Given the description of an element on the screen output the (x, y) to click on. 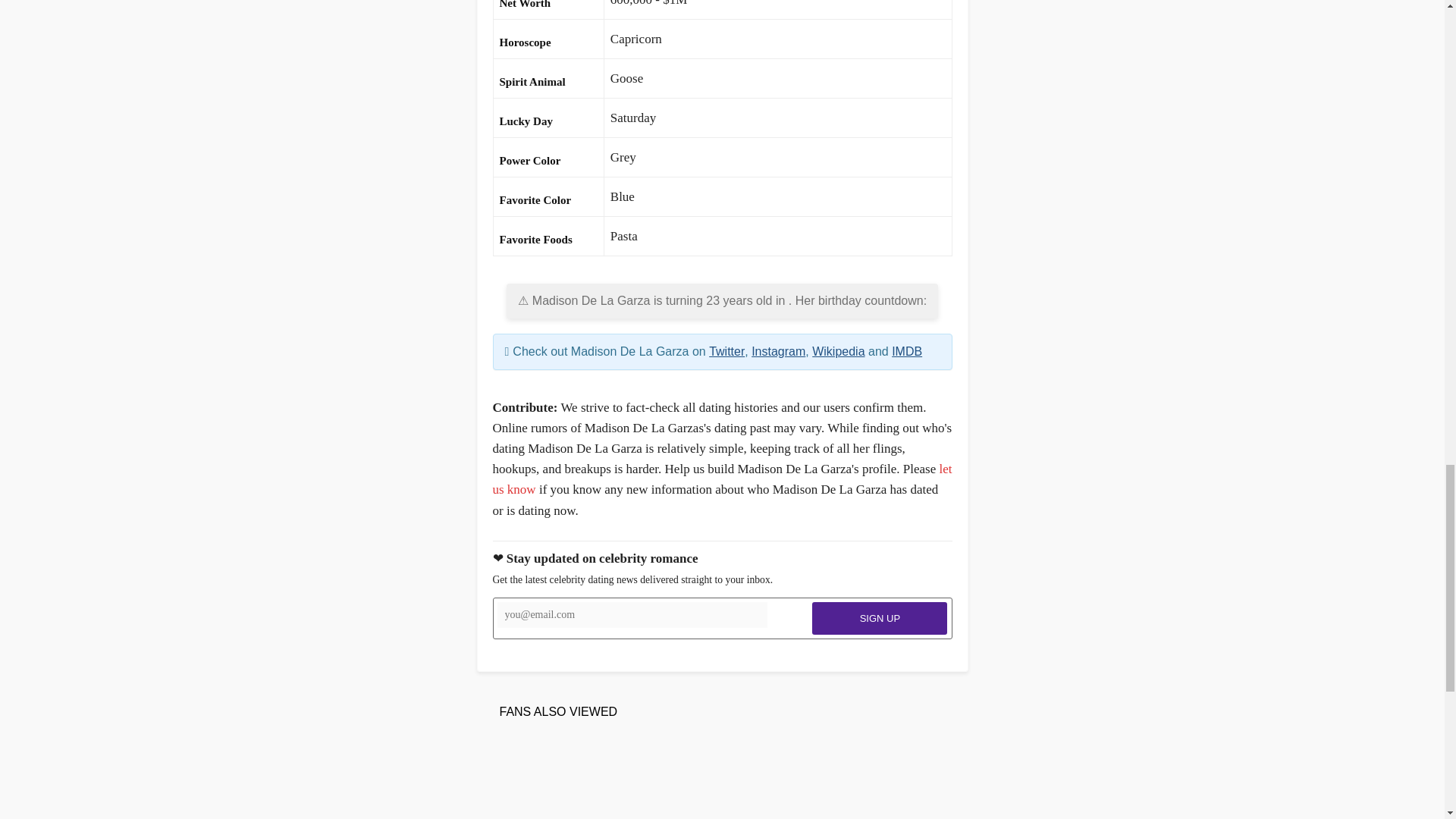
Twitter (726, 350)
let us know (722, 478)
Instagram (778, 350)
Wikipedia (838, 350)
SIGN UP (879, 617)
Jayden Siwa (536, 777)
Lil Mama (629, 777)
SIGN UP (879, 617)
IMDB (906, 350)
